Given the description of an element on the screen output the (x, y) to click on. 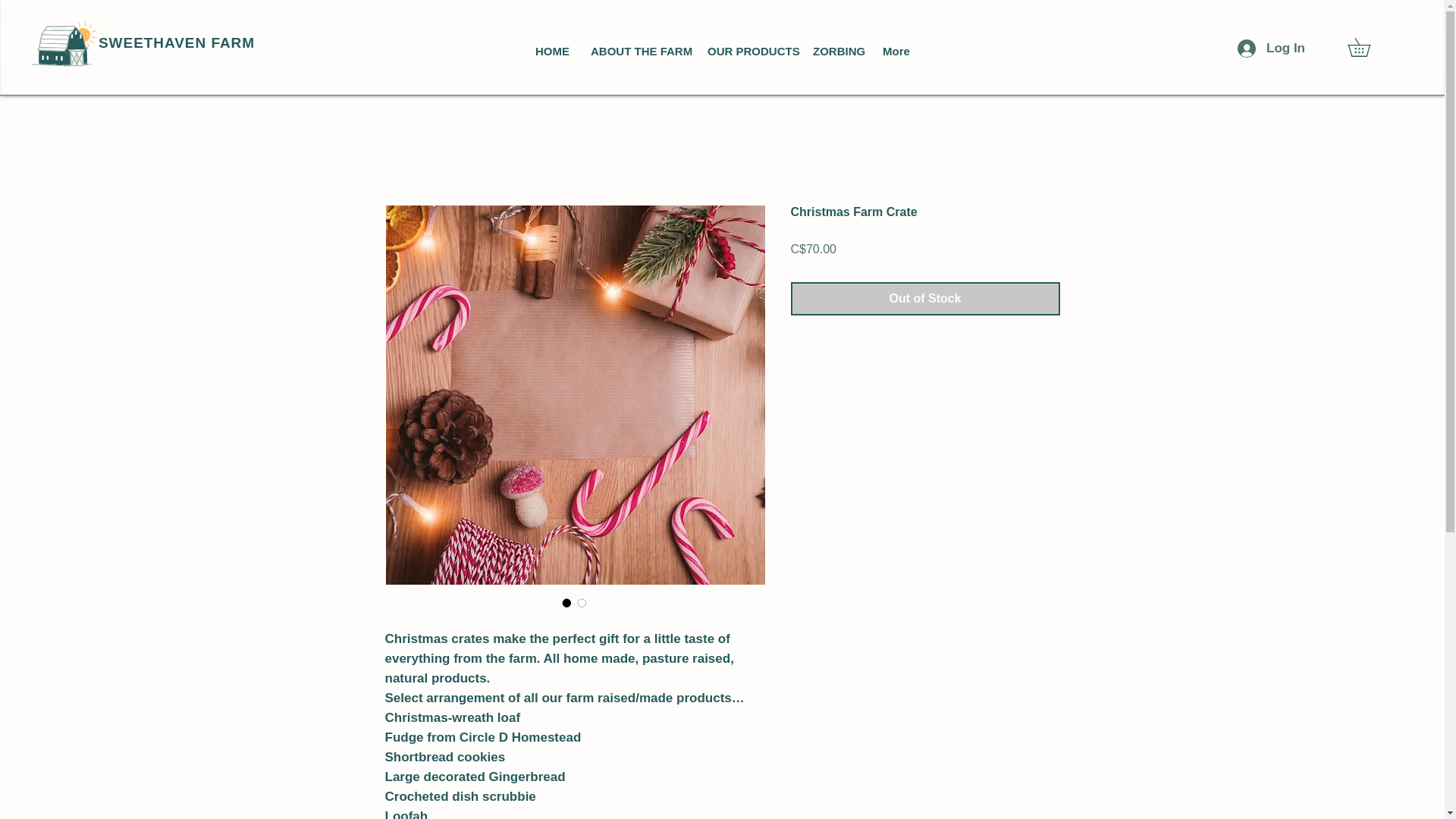
HOME (551, 51)
Log In (1270, 48)
ZORBING (836, 51)
Out of Stock (924, 298)
OUR PRODUCTS (748, 51)
ABOUT THE FARM (637, 51)
SWEETHAVEN FARM (176, 42)
